Given the description of an element on the screen output the (x, y) to click on. 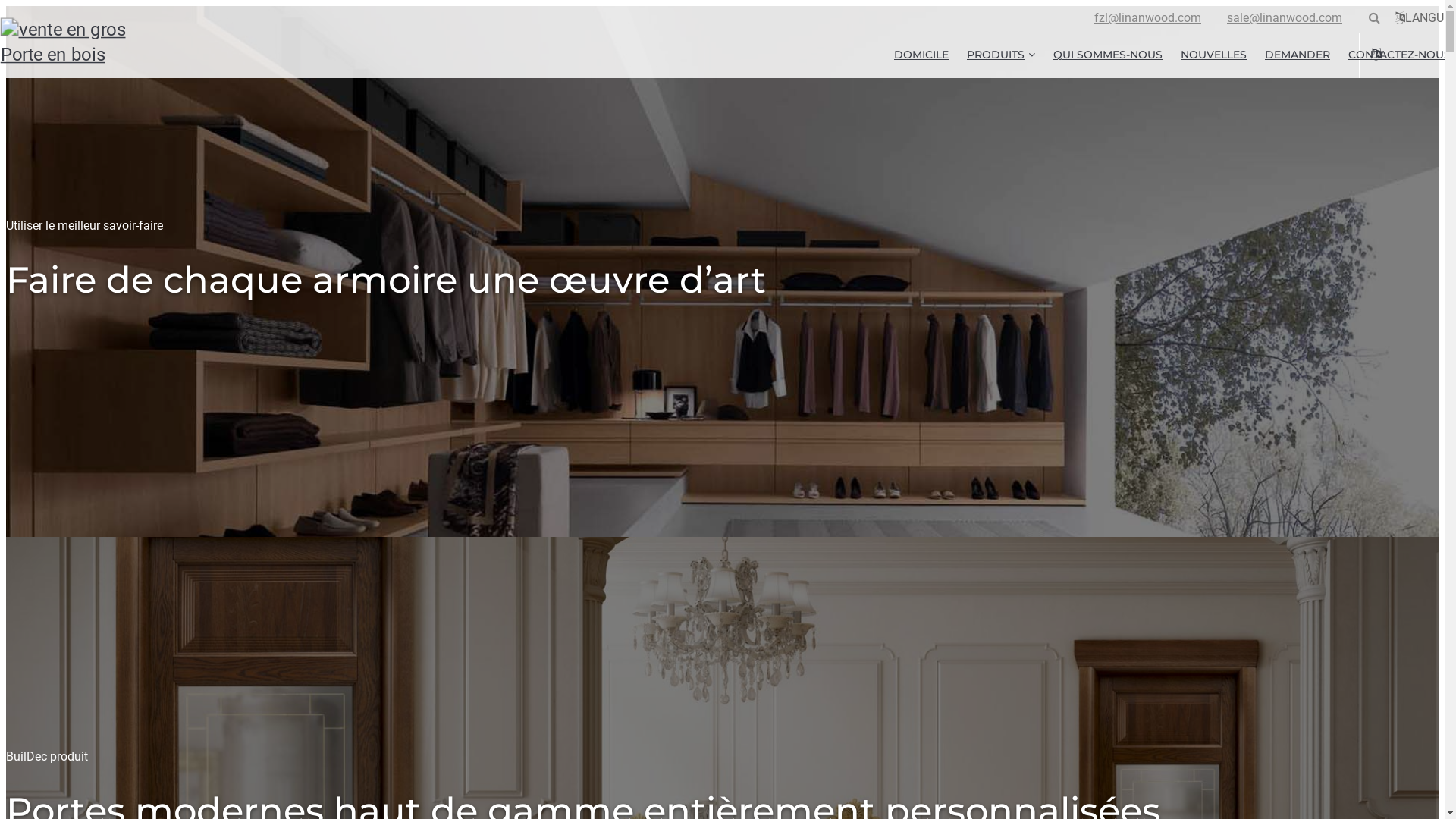
fzl@linanwood.com Element type: text (1147, 18)
DOMICILE Element type: text (921, 55)
LANGUE Element type: text (1374, 55)
CONTACTEZ-NOUS Element type: text (1395, 55)
sale@linanwood.com Element type: text (1284, 18)
DEMANDER Element type: text (1297, 55)
PENDERIE Element type: text (1046, 87)
QUI SOMMES-NOUS Element type: text (1107, 55)
PRODUITS Element type: text (1000, 55)
CUISINE Element type: text (1046, 87)
Aller! Element type: text (1414, 96)
NOUVELLES Element type: text (1213, 55)
